Given the description of an element on the screen output the (x, y) to click on. 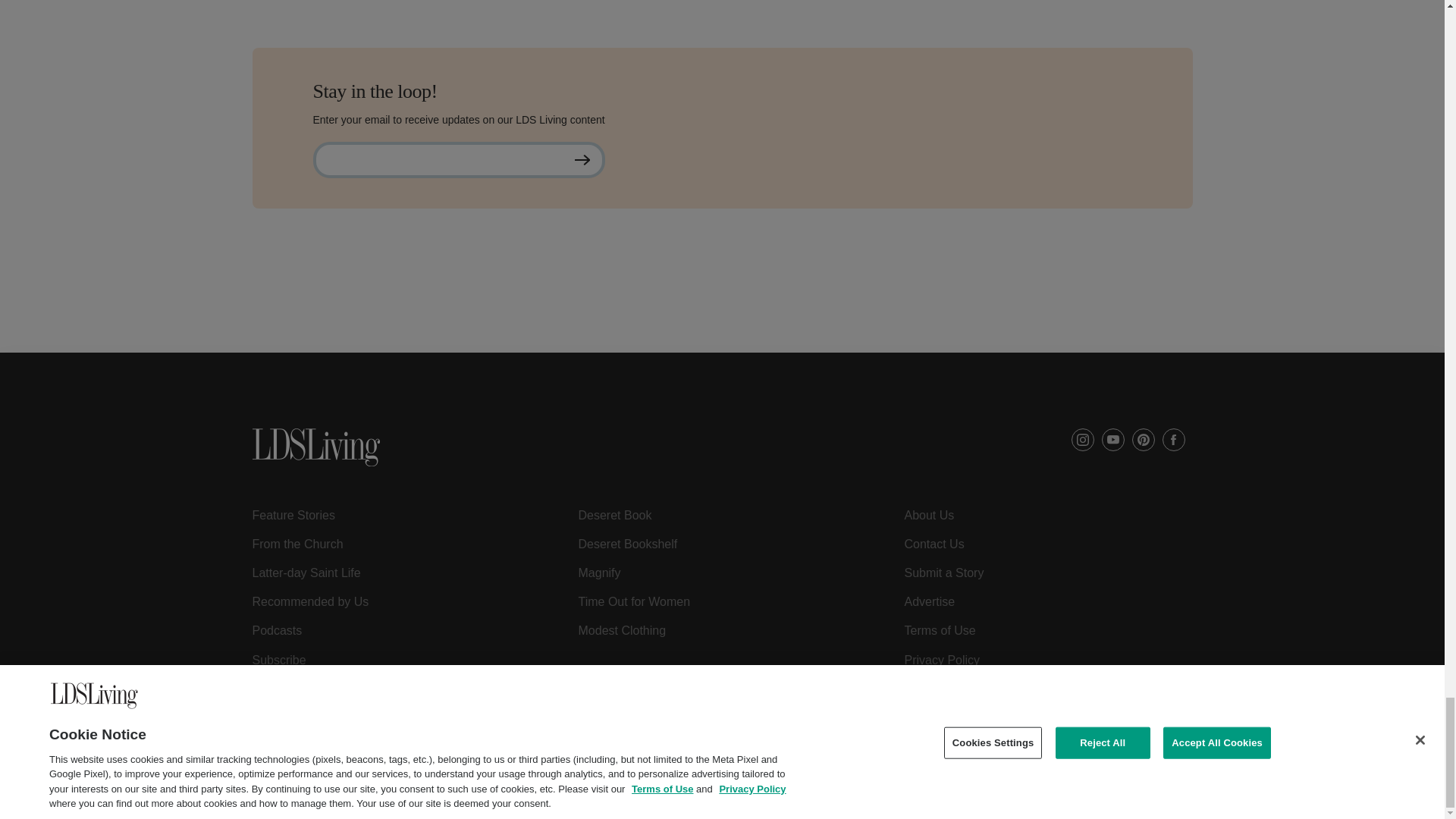
3rd party ad content (721, 318)
